Given the description of an element on the screen output the (x, y) to click on. 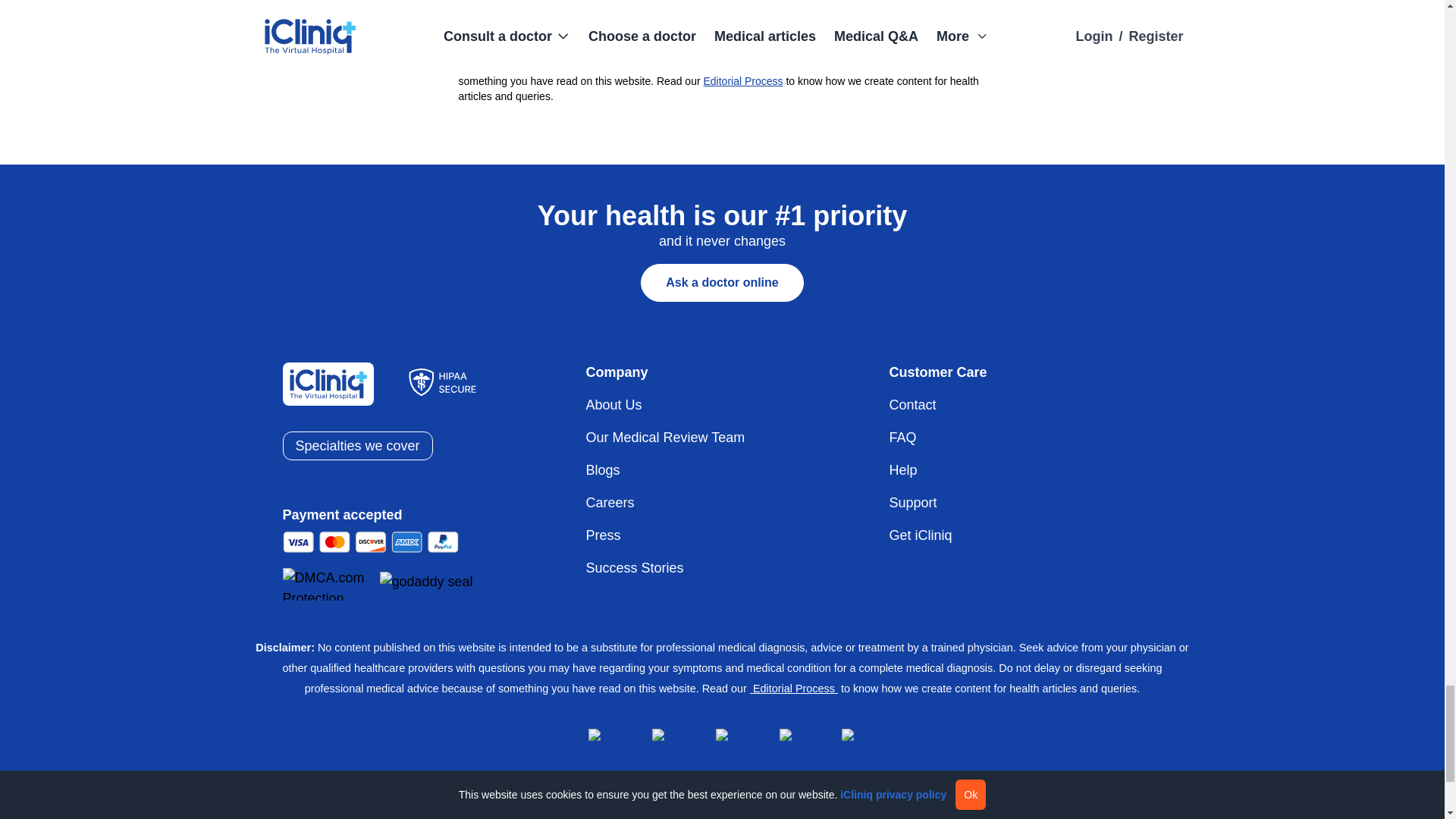
facebook (596, 735)
godaddy ssl seal (428, 583)
youtube (849, 735)
instagram (723, 735)
DMCA.com Protection Status (328, 584)
linkedin (659, 735)
twitter (785, 735)
